Given the description of an element on the screen output the (x, y) to click on. 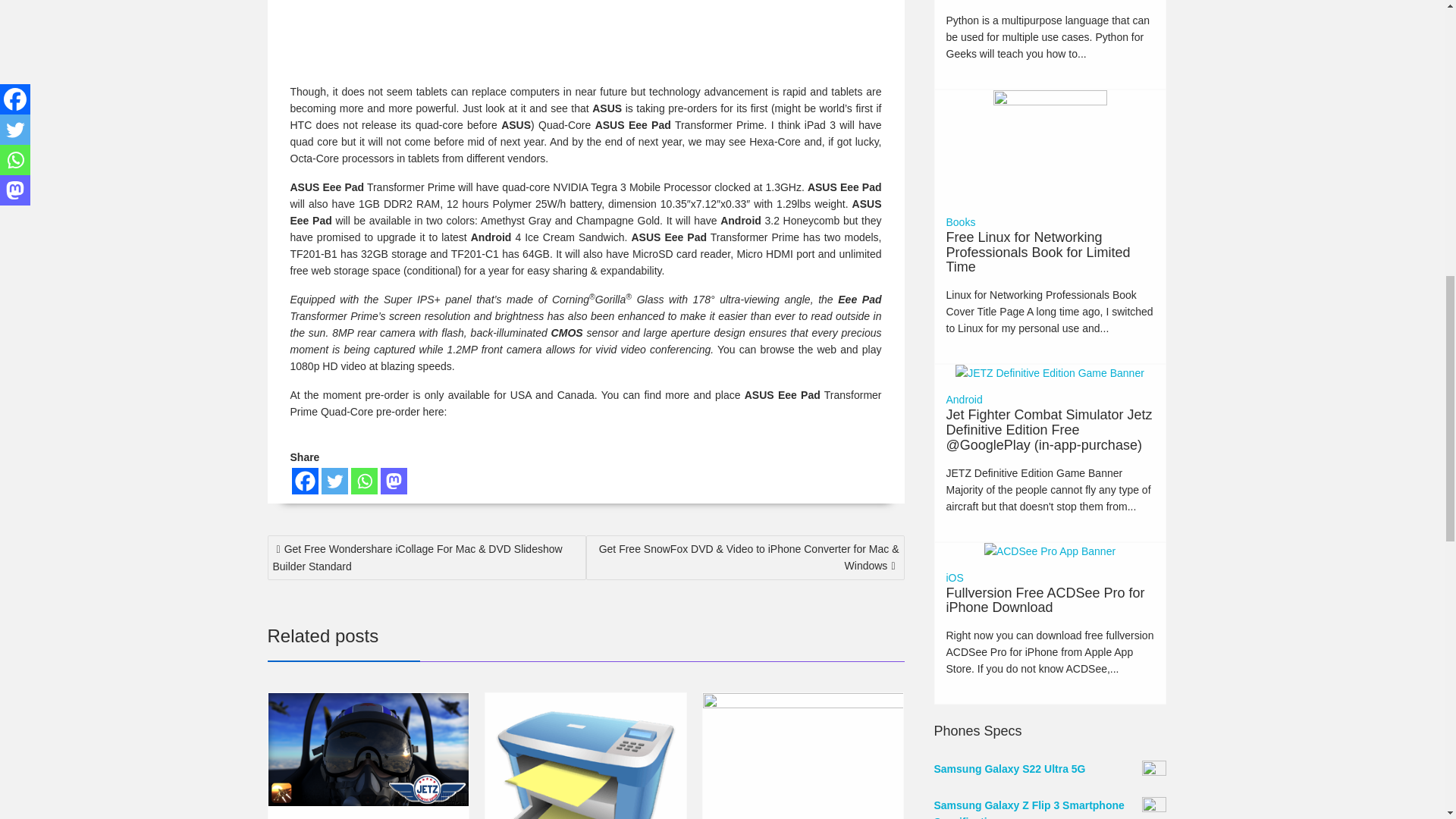
Mastodon (393, 480)
ASUS Eee Pad Transformer Prime (522, 35)
Whatsapp (363, 480)
Facebook (304, 480)
Twitter (334, 480)
